Given the description of an element on the screen output the (x, y) to click on. 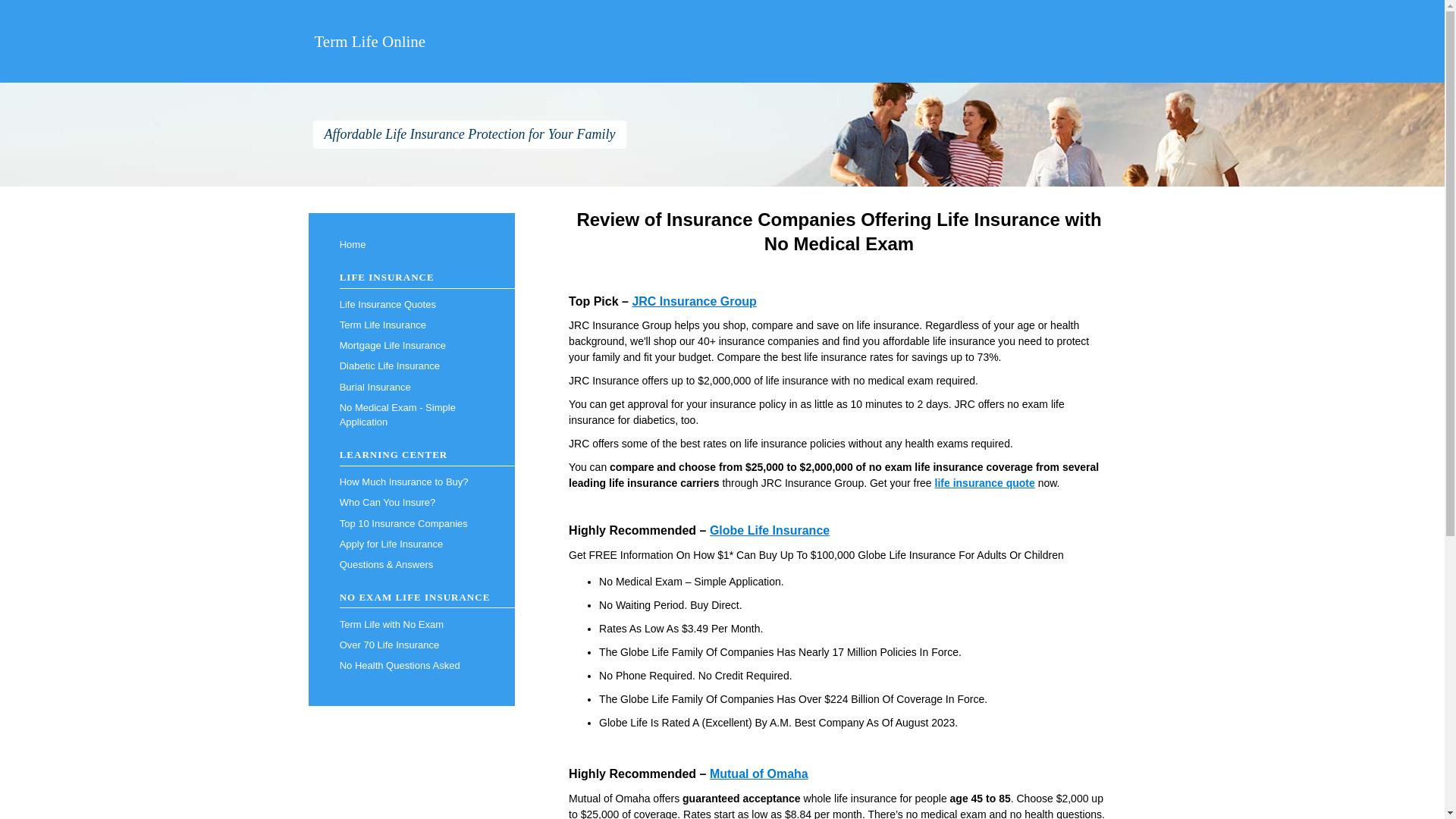
Term Life Online (368, 40)
Term Life with No Exam (411, 624)
JRC Insurance Group (693, 300)
Over 70 Life Insurance (411, 644)
Term Life Insurance (411, 324)
Life Insurance Quotes (411, 304)
How Much Insurance to Buy? (411, 482)
Mutual of Omaha (759, 773)
Home (411, 244)
No Medical Exam - Simple Application (411, 415)
Who Can You Insure? (411, 503)
No Health Questions Asked (411, 665)
Burial Insurance (411, 386)
Top 10 Insurance Companies (411, 523)
Apply for Life Insurance (411, 543)
